Given the description of an element on the screen output the (x, y) to click on. 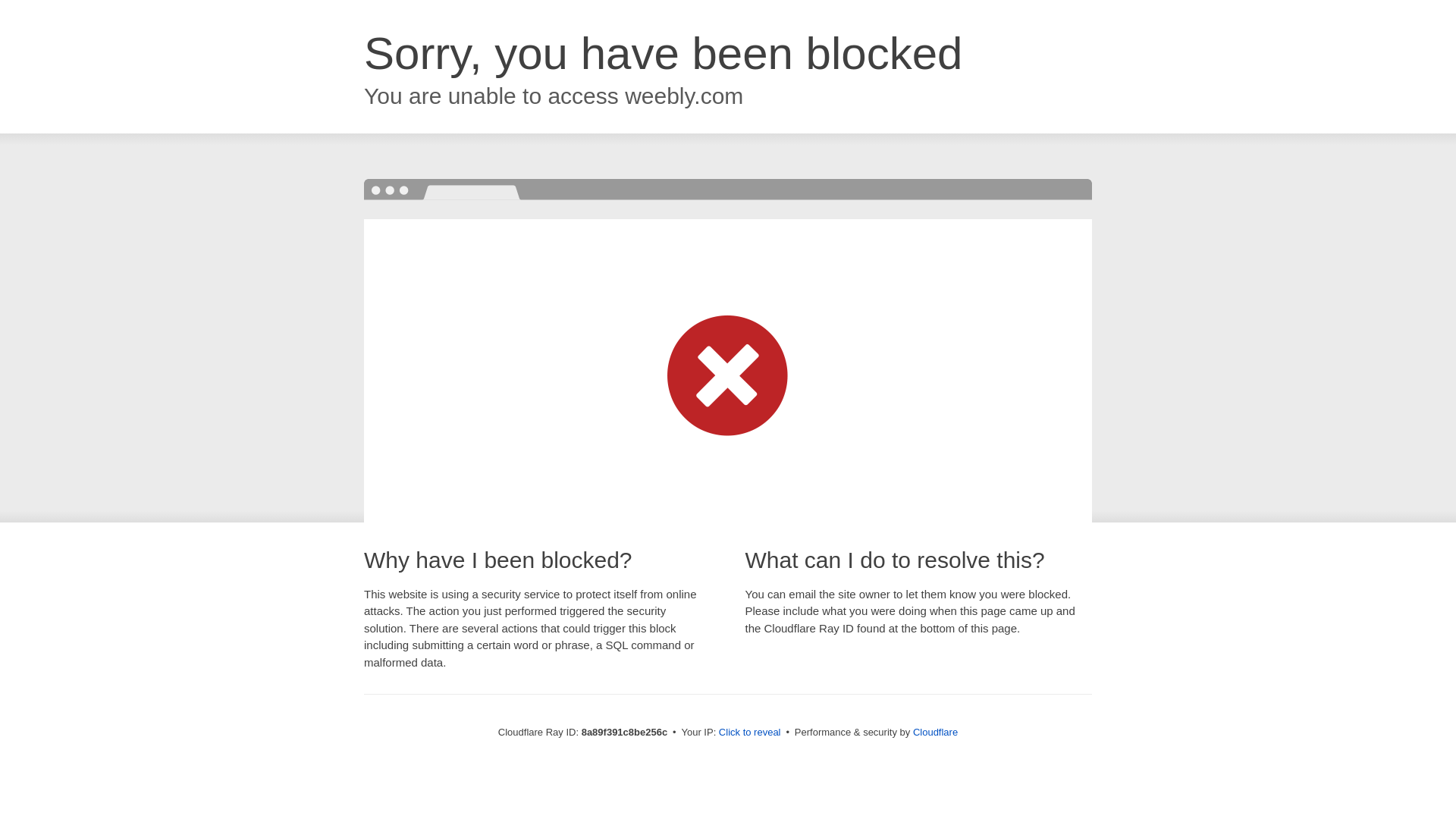
Cloudflare (935, 731)
Click to reveal (749, 732)
